Given the description of an element on the screen output the (x, y) to click on. 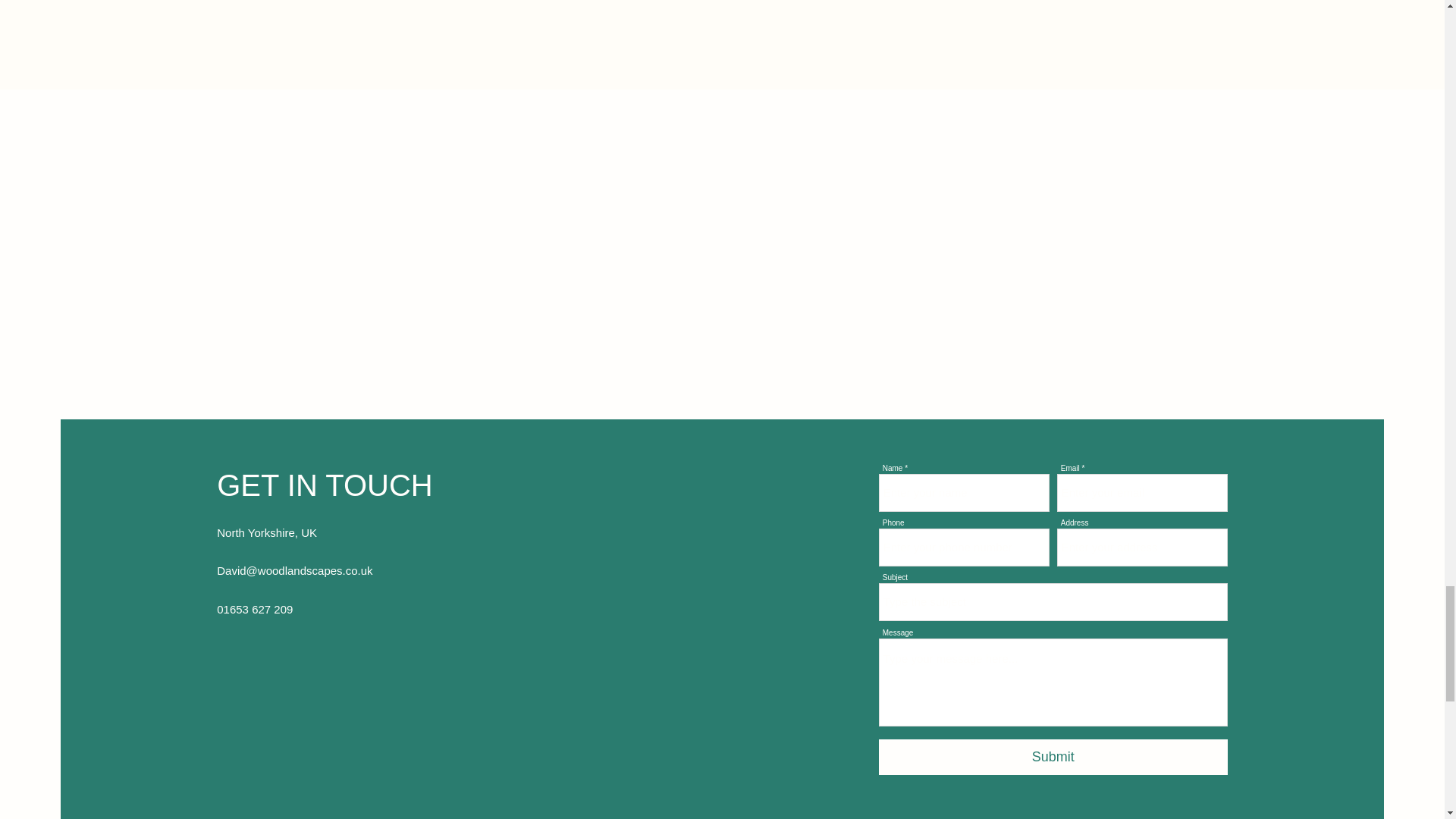
Submit (1053, 756)
